Given the description of an element on the screen output the (x, y) to click on. 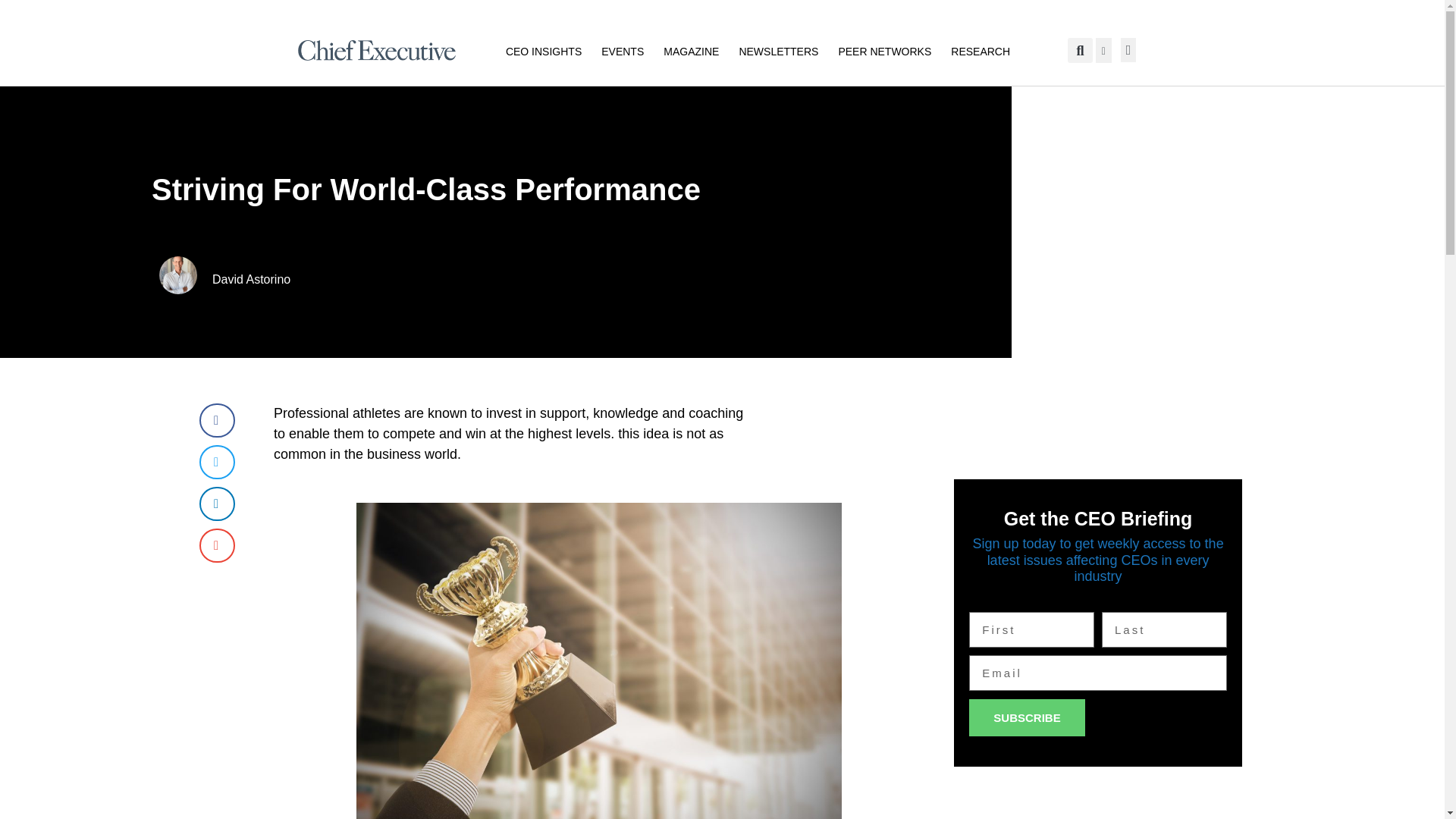
EVENTS (622, 50)
CEO INSIGHTS (543, 50)
NEWSLETTERS (778, 50)
RESEARCH (980, 50)
PEER NETWORKS (884, 50)
MAGAZINE (691, 50)
